Given the description of an element on the screen output the (x, y) to click on. 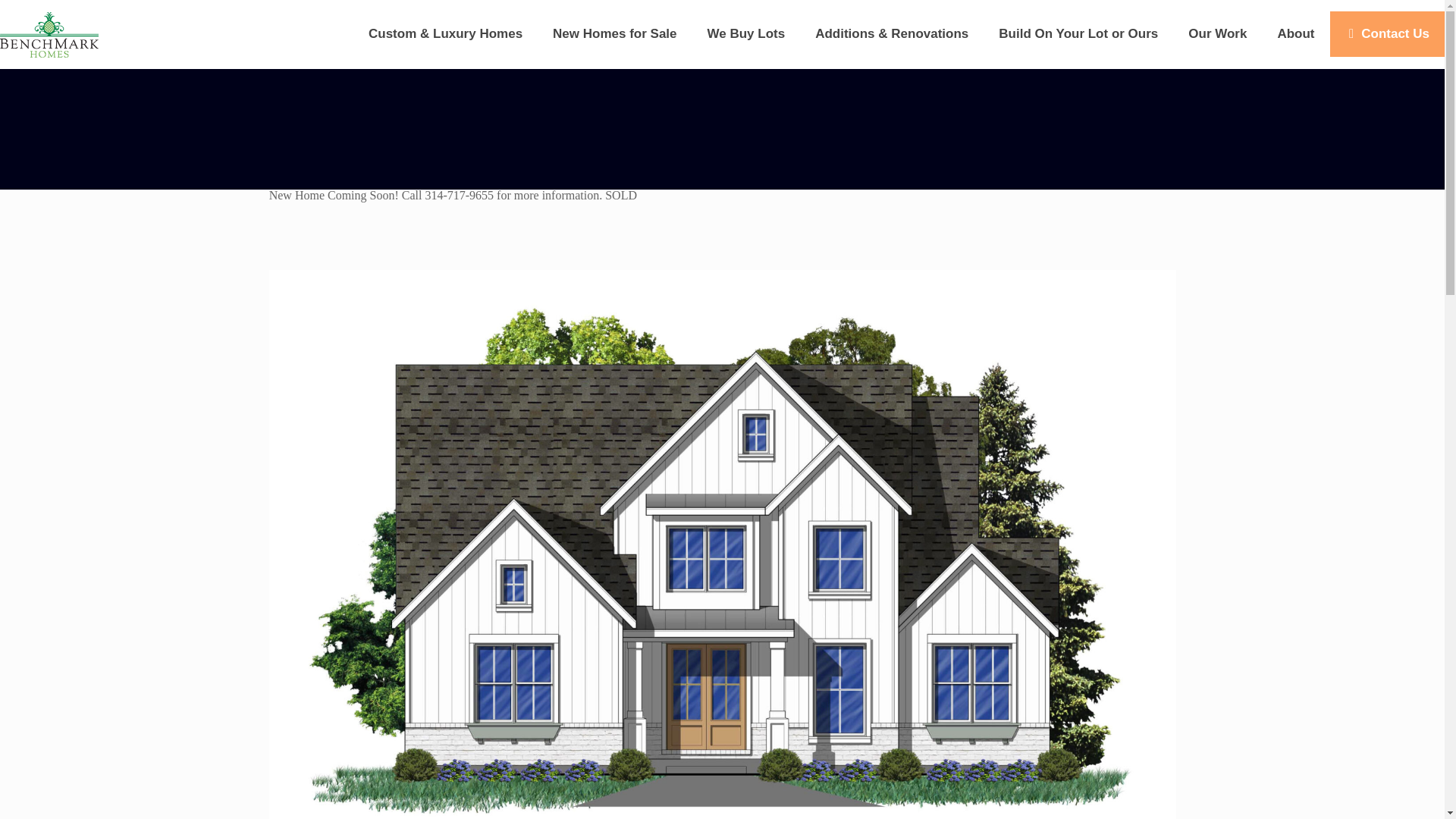
Our Work (1217, 33)
We Buy Lots (746, 33)
Build On Your Lot or Ours (1078, 33)
New Homes for Sale (614, 33)
About (1295, 33)
Benchmark Homes (49, 33)
